Given the description of an element on the screen output the (x, y) to click on. 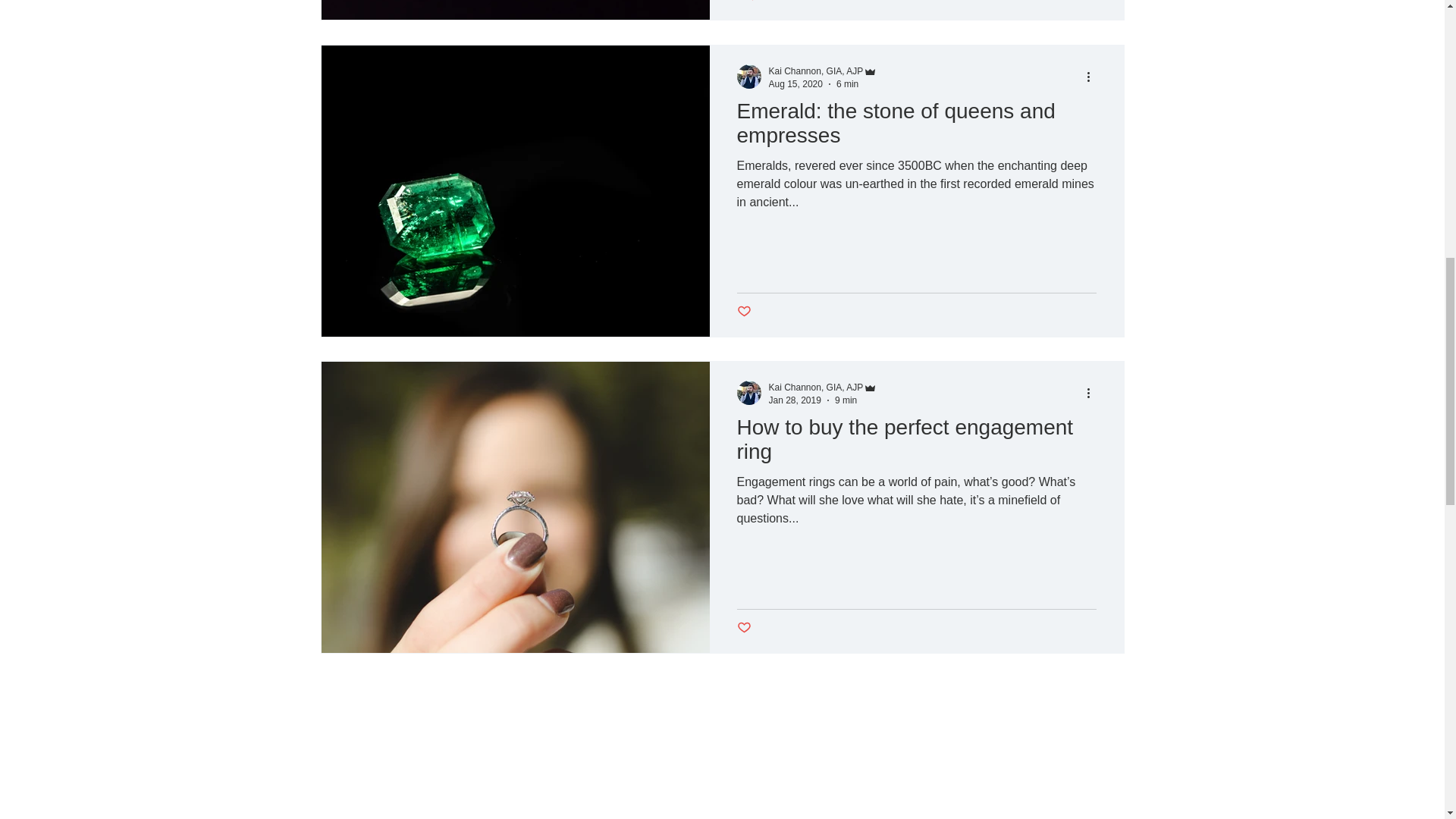
Kai Channon, GIA, AJP (815, 71)
Emerald: the stone of queens and empresses (916, 127)
Post not marked as liked (743, 627)
How to buy the perfect engagement ring (748, 1)
Kai Channon, GIA, AJP (916, 443)
Post not marked as liked (822, 387)
Jan 28, 2019 (743, 311)
Aug 15, 2020 (794, 398)
Kai Channon, GIA, AJP (795, 83)
Kai Channon, GIA, AJP (822, 70)
6 min (815, 387)
9 min (847, 83)
